Given the description of an element on the screen output the (x, y) to click on. 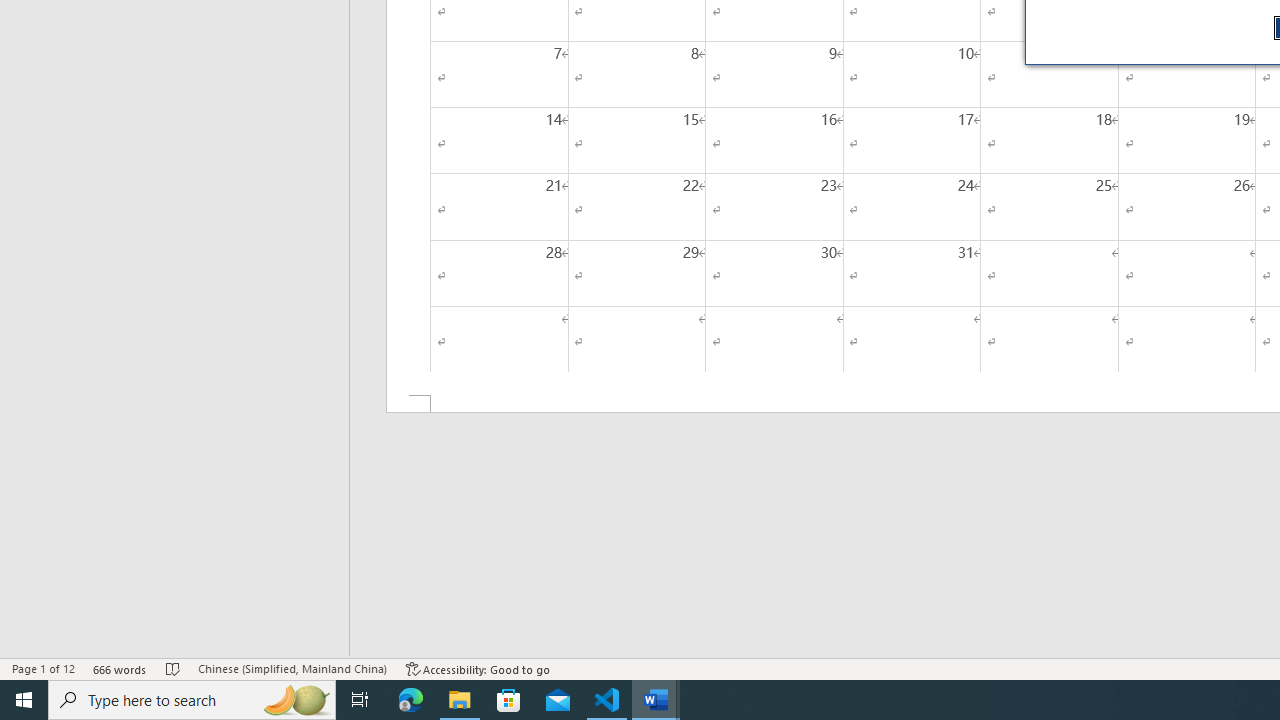
Type here to search (191, 699)
